Given the description of an element on the screen output the (x, y) to click on. 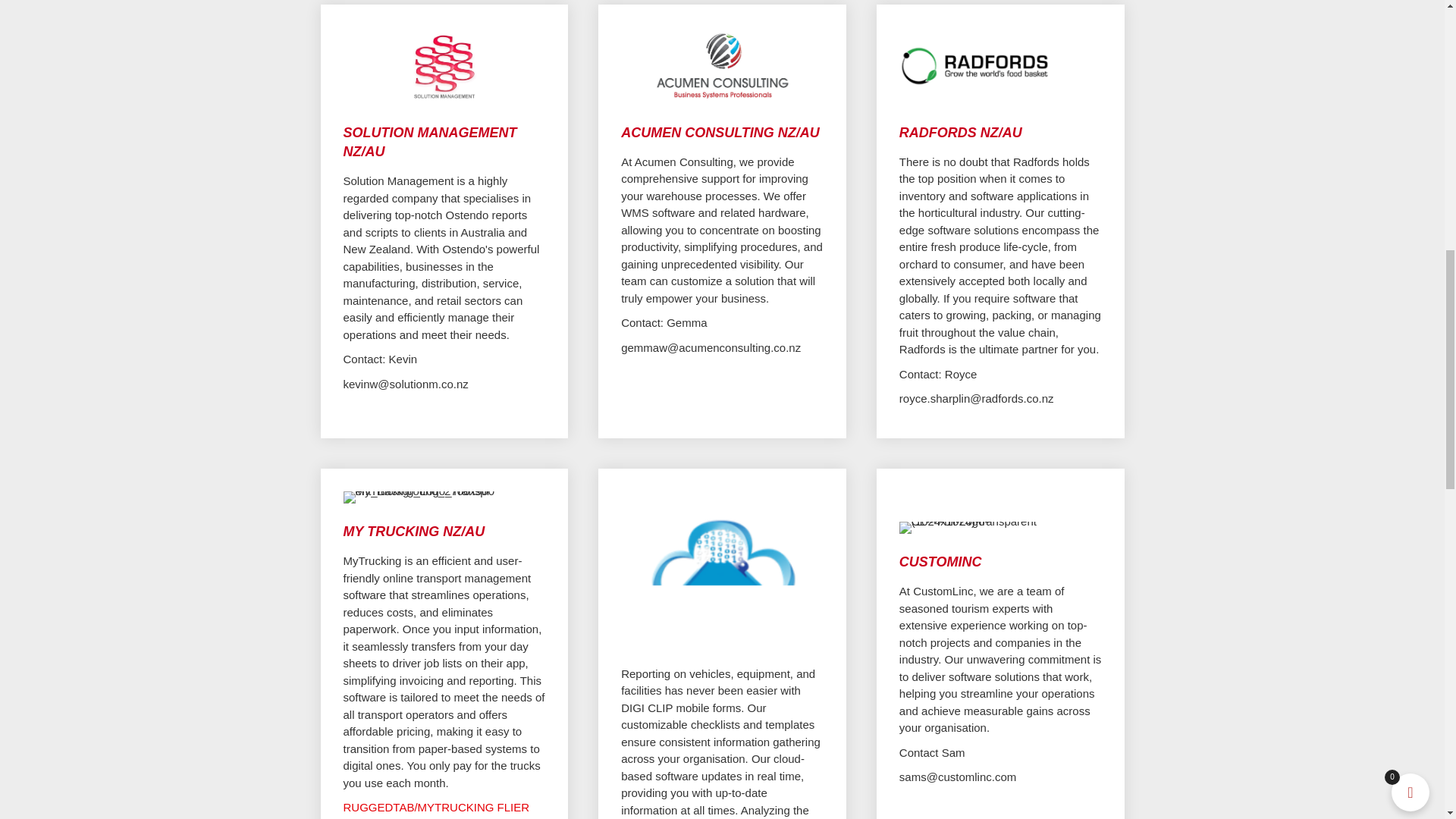
CUSTOMINC (940, 561)
